Given the description of an element on the screen output the (x, y) to click on. 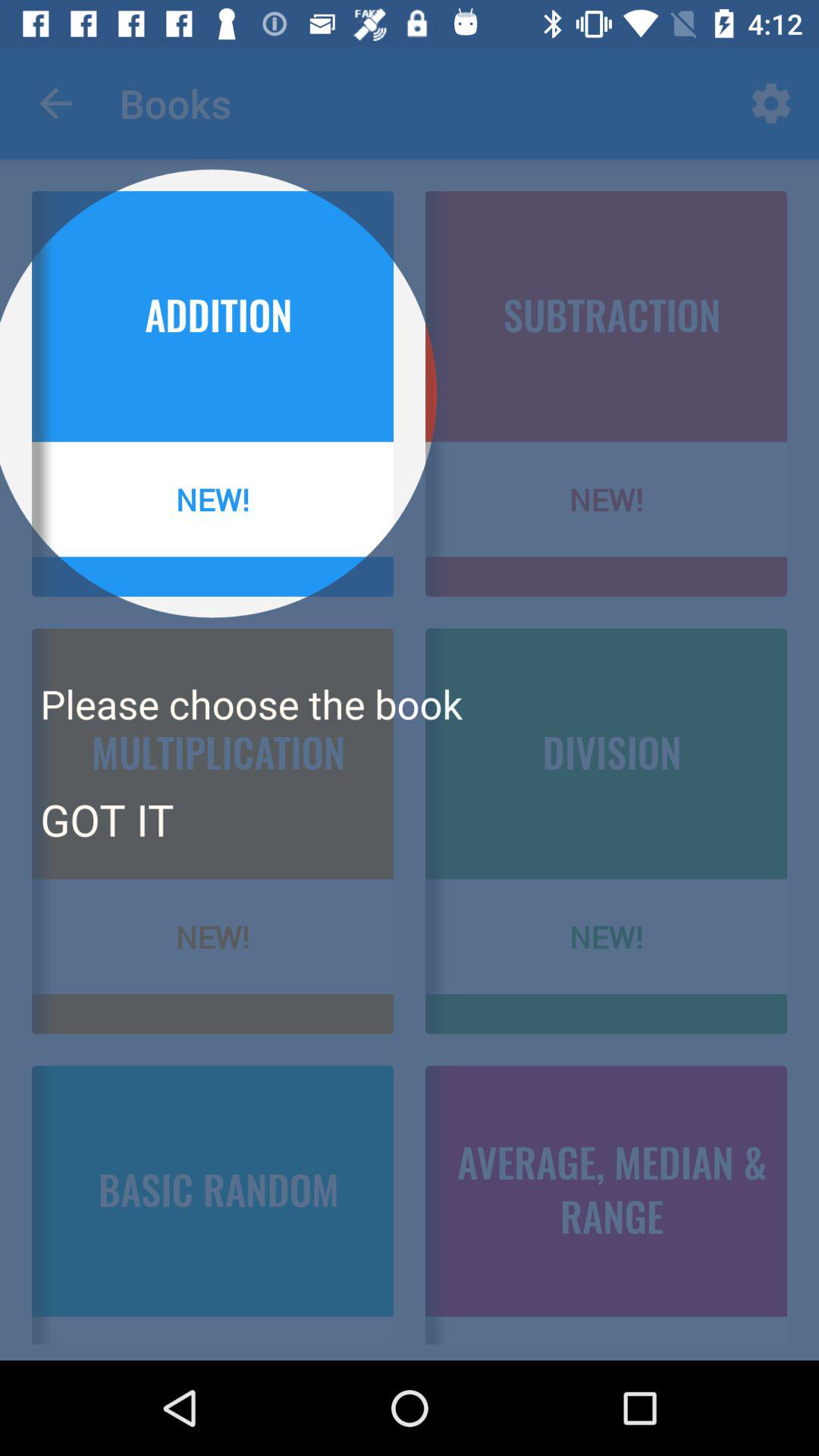
click item to the left of division (107, 819)
